Given the description of an element on the screen output the (x, y) to click on. 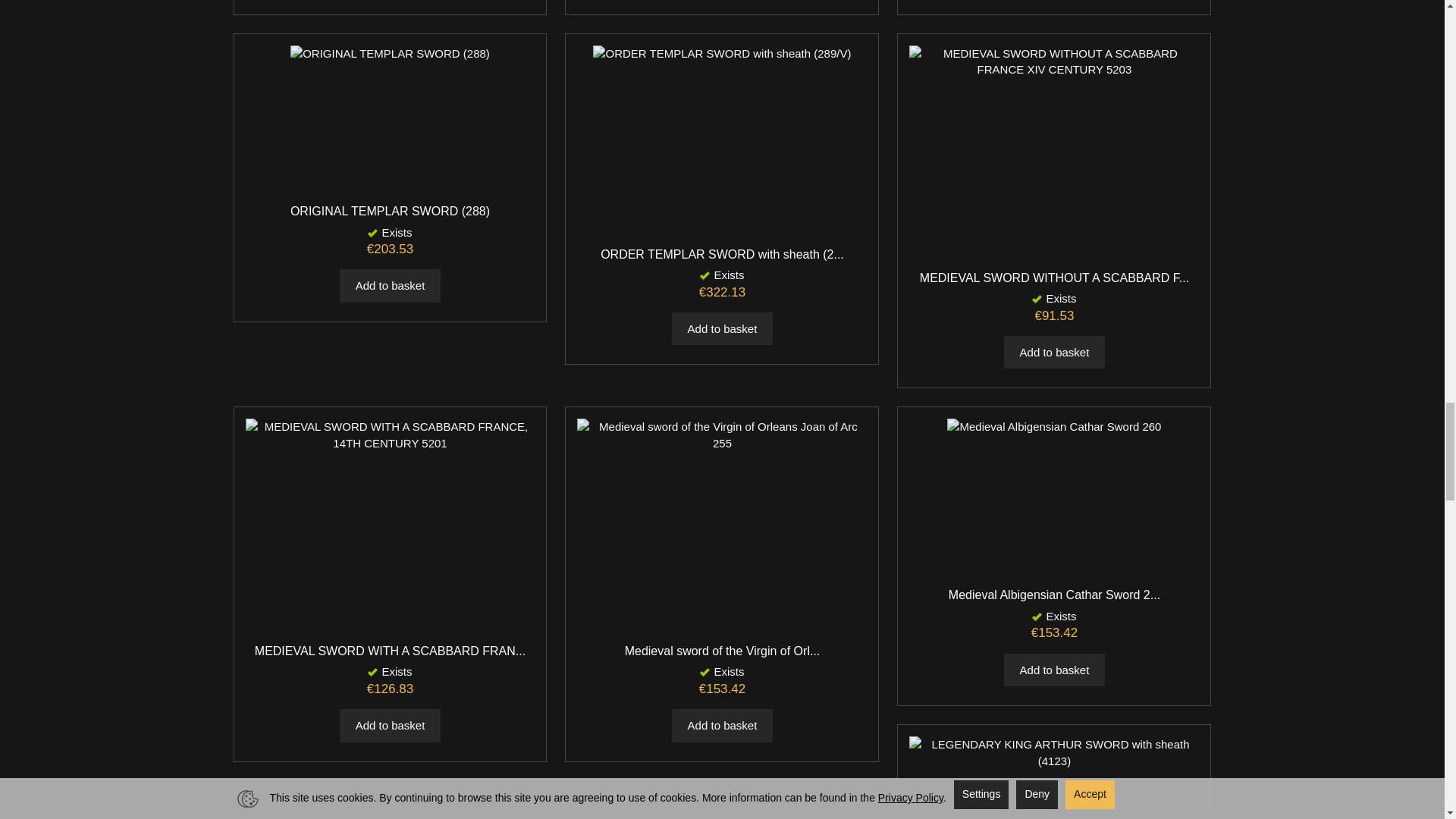
MEDIEVAL SWORD WITHOUT A SCABBARD FRANCE XIV CENTURY 5203 (1054, 277)
Medieval Albigensian Cathar Sword 260 (1054, 594)
Medieval sword of the Virgin of Orleans Joan of Arc 255 (722, 650)
MEDIEVAL SWORD WITH A SCABBARD FRANCE, 14TH CENTURY 5201 (389, 650)
